Given the description of an element on the screen output the (x, y) to click on. 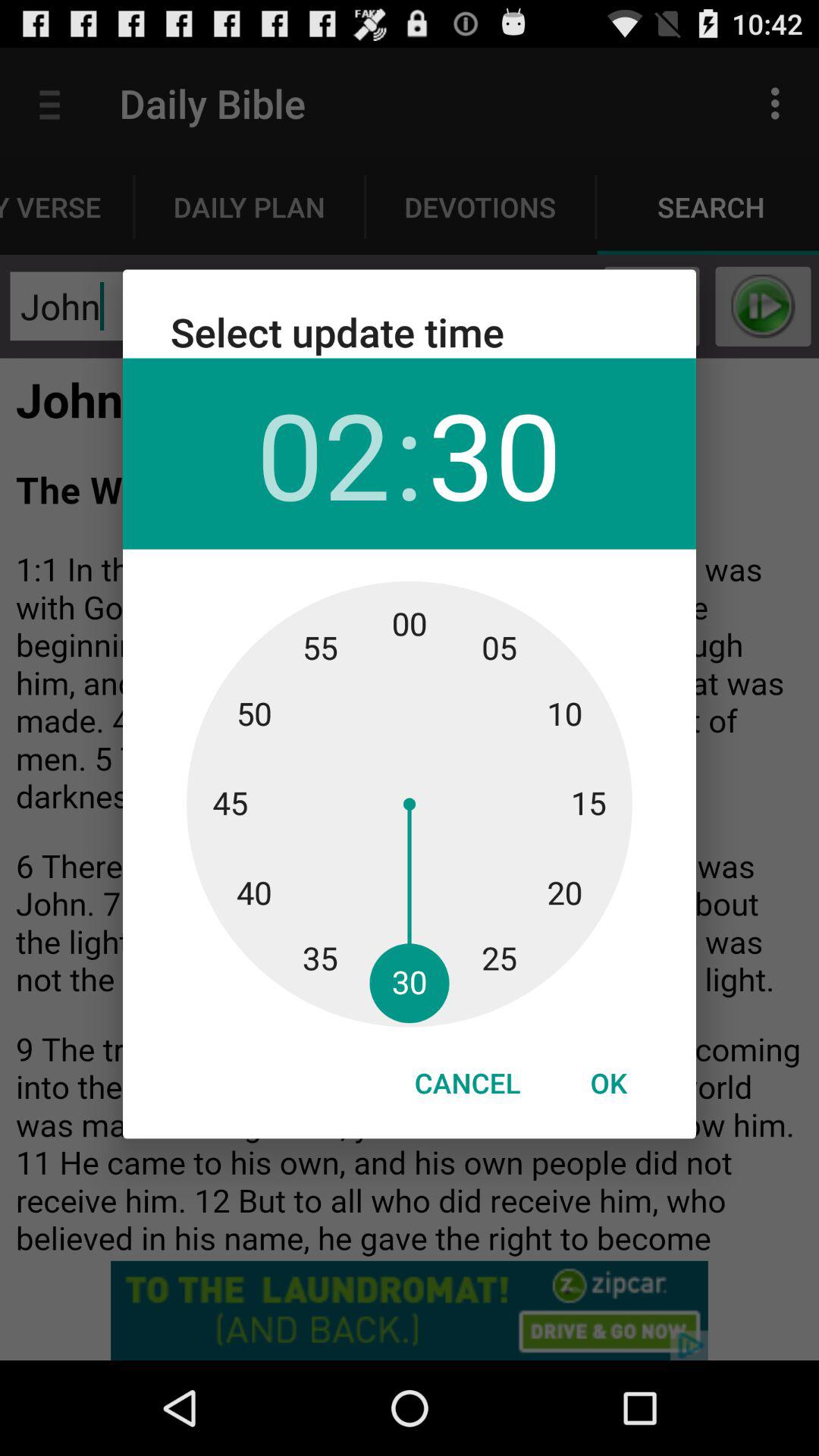
jump until the 02 icon (323, 453)
